Given the description of an element on the screen output the (x, y) to click on. 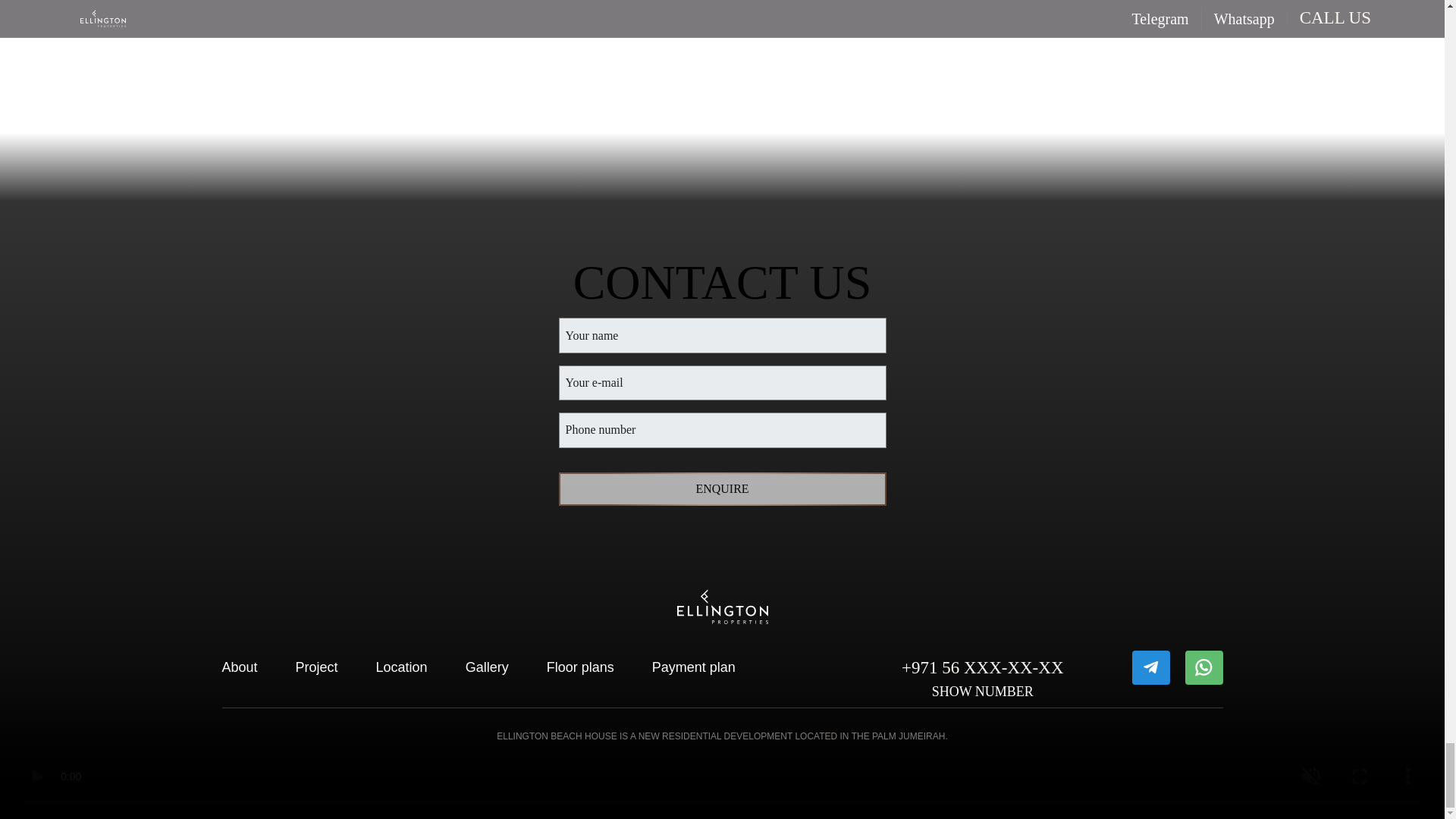
Gallery (486, 667)
ENQUIRE (721, 489)
About (239, 667)
Payment plan (693, 667)
Project (316, 667)
Floor plans (580, 667)
Location (401, 667)
